Given the description of an element on the screen output the (x, y) to click on. 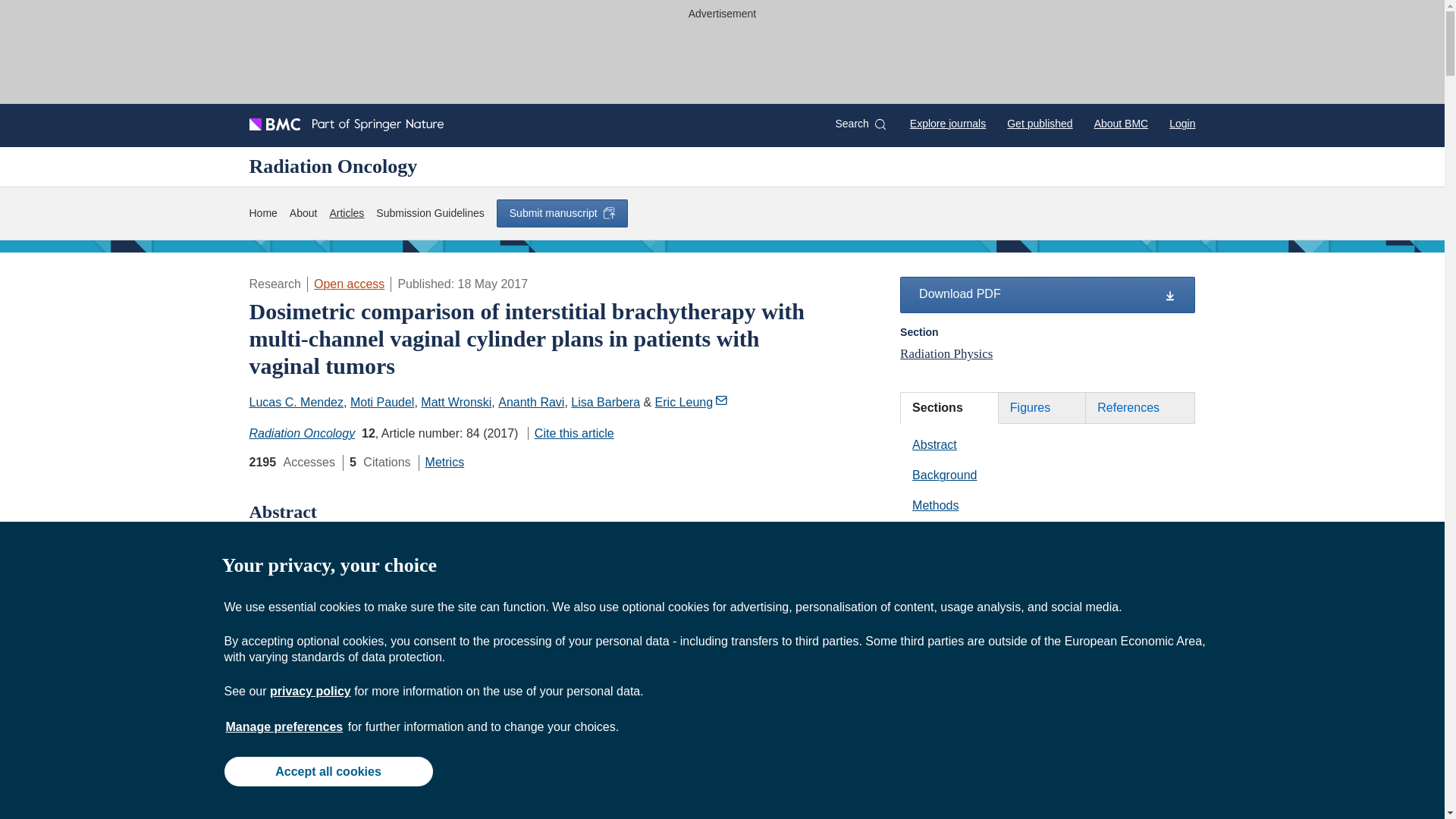
Get published (1039, 123)
Lucas C. Mendez (295, 401)
Submission Guidelines (429, 212)
Eric Leung (692, 401)
Manage preferences (284, 726)
Cite this article (570, 432)
Ananth Ravi (530, 401)
Accept all cookies (328, 771)
Lisa Barbera (605, 401)
Submit manuscript (561, 212)
Radiation Oncology (301, 432)
Explore journals (947, 123)
Login (1182, 123)
About BMC (1121, 123)
Search (859, 123)
